Given the description of an element on the screen output the (x, y) to click on. 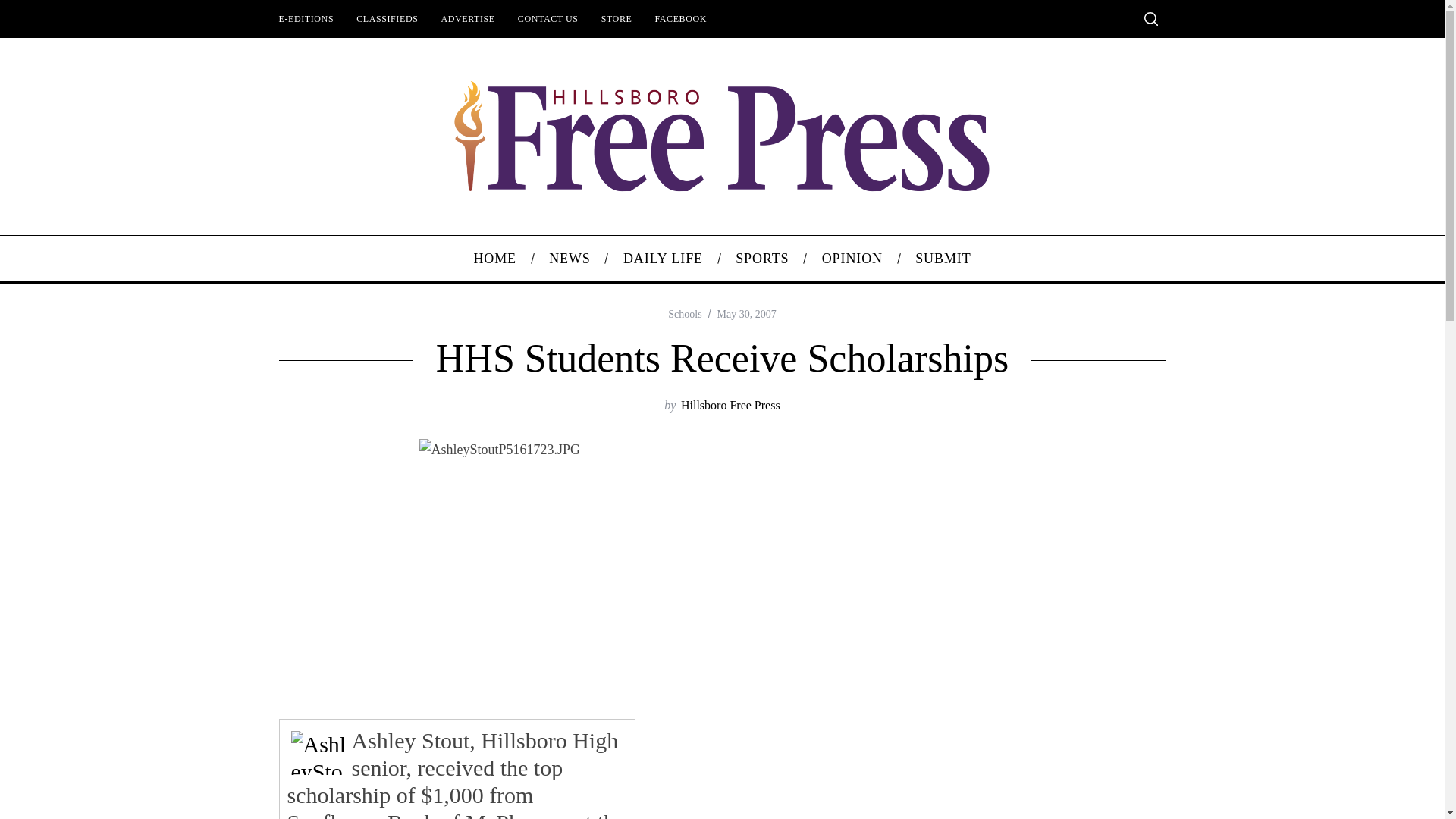
OPINION (851, 258)
ADVERTISE (467, 18)
STORE (616, 18)
CONTACT US (547, 18)
AshleyStoutP5161723.JPG (319, 752)
DAILY LIFE (663, 258)
CLASSIFIEDS (387, 18)
E-EDITIONS (305, 18)
FACEBOOK (680, 18)
SPORTS (762, 258)
